Given the description of an element on the screen output the (x, y) to click on. 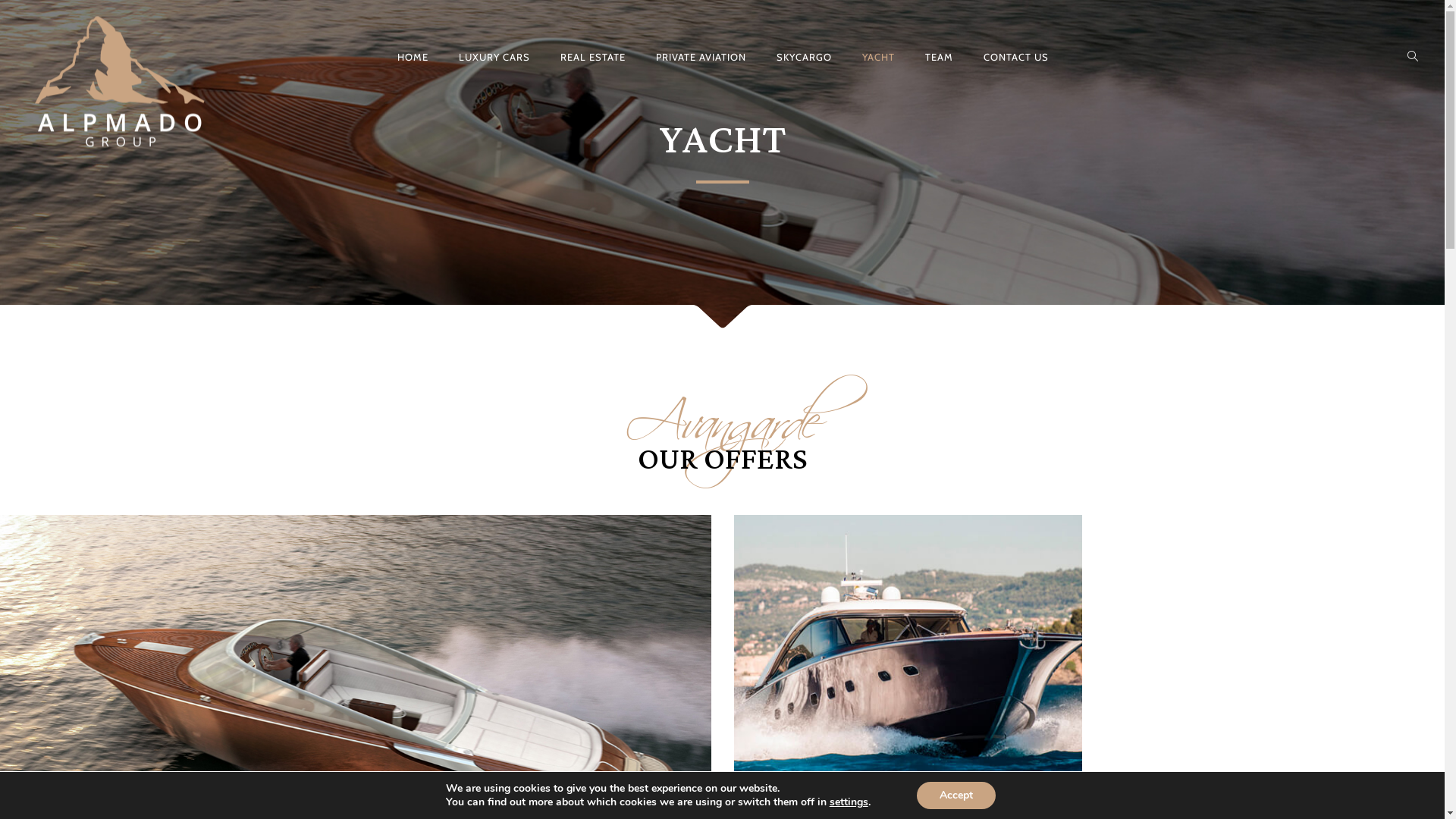
Accept Element type: text (955, 795)
PRIVATE AVIATION Element type: text (700, 56)
SKYCARGO Element type: text (804, 56)
HOME Element type: text (412, 56)
CONTACT US Element type: text (1015, 56)
REAL ESTATE Element type: text (592, 56)
TEAM Element type: text (939, 56)
YACHT Element type: text (877, 56)
LUXURY CARS Element type: text (493, 56)
